Given the description of an element on the screen output the (x, y) to click on. 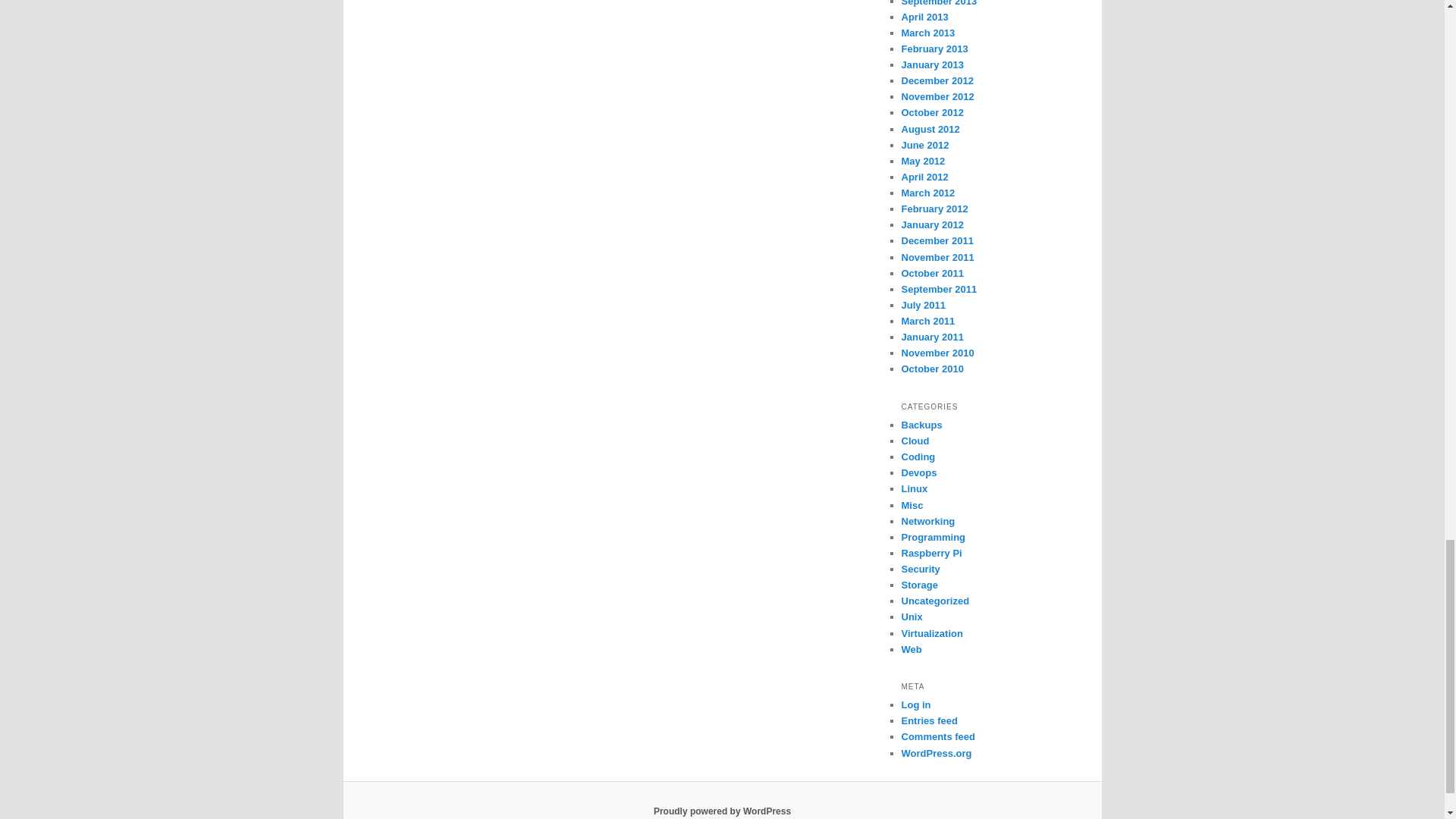
Semantic Personal Publishing Platform (721, 810)
